Given the description of an element on the screen output the (x, y) to click on. 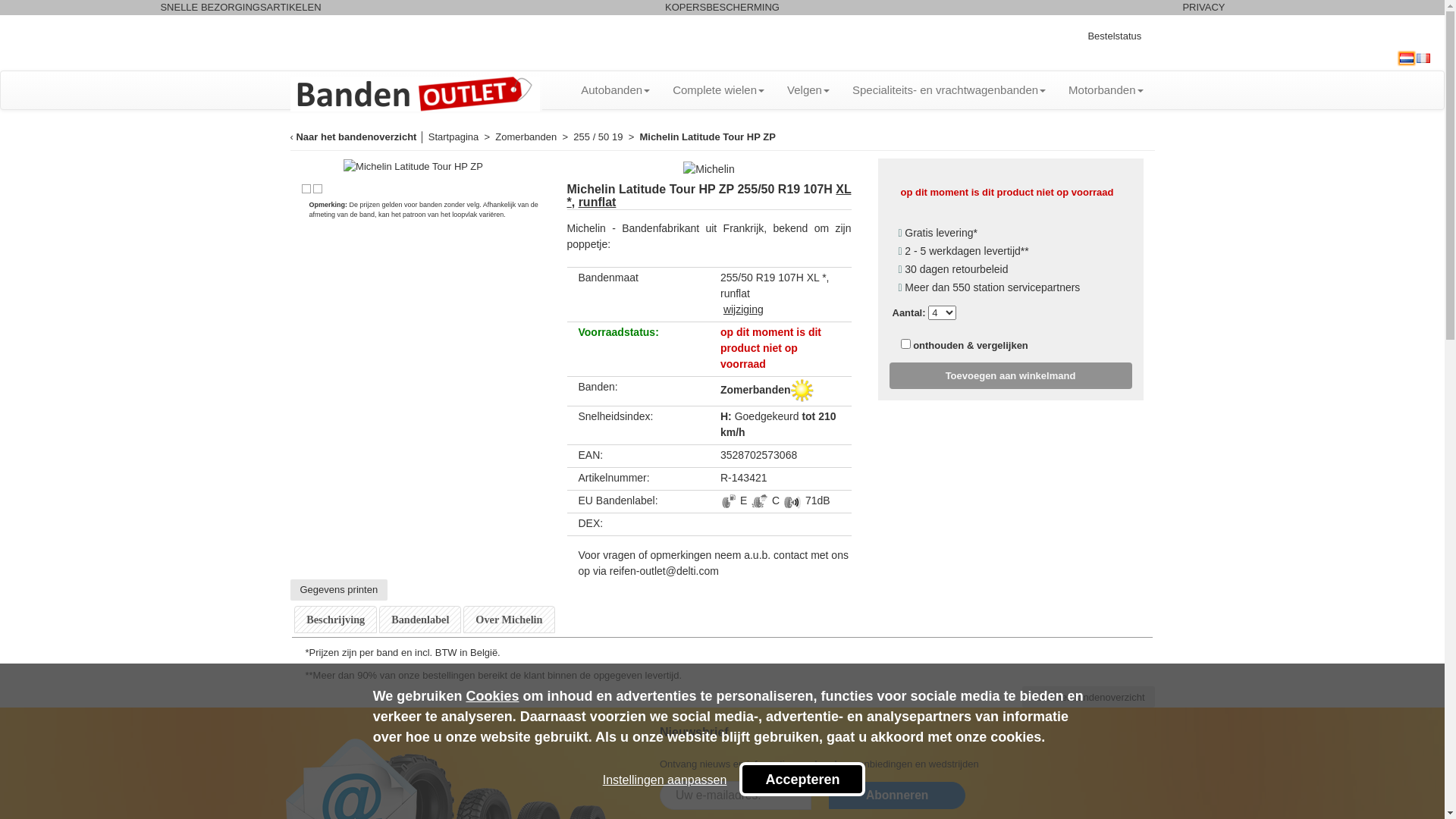
Accepteren Element type: text (802, 779)
Naar het bandenoverzicht Element type: text (355, 135)
Autobanden Element type: text (615, 90)
Cookies Element type: text (491, 695)
Naar het bandenoverzicht Element type: text (1088, 696)
reifen-outlet@delti.com Element type: text (663, 570)
Velgen Element type: text (807, 90)
Zomerbanden Element type: text (525, 135)
Toevoegen aan winkelmand Element type: text (1009, 375)
Complete wielen Element type: text (718, 90)
E C 71dB Element type: text (775, 500)
Gegevens printen Element type: text (338, 589)
Abonneren Element type: text (896, 795)
Instellingen aanpassen Element type: text (664, 779)
* Element type: text (975, 231)
wijziging Element type: text (743, 309)
255 / 50 19 Element type: text (599, 135)
Specialiteits- en vrachtwagenbanden Element type: text (948, 90)
** Element type: text (1024, 250)
Bestelstatus Element type: text (1113, 36)
Motorbanden Element type: text (1105, 90)
Startpagina Element type: text (453, 135)
Nederlands Element type: text (1406, 58)
